Given the description of an element on the screen output the (x, y) to click on. 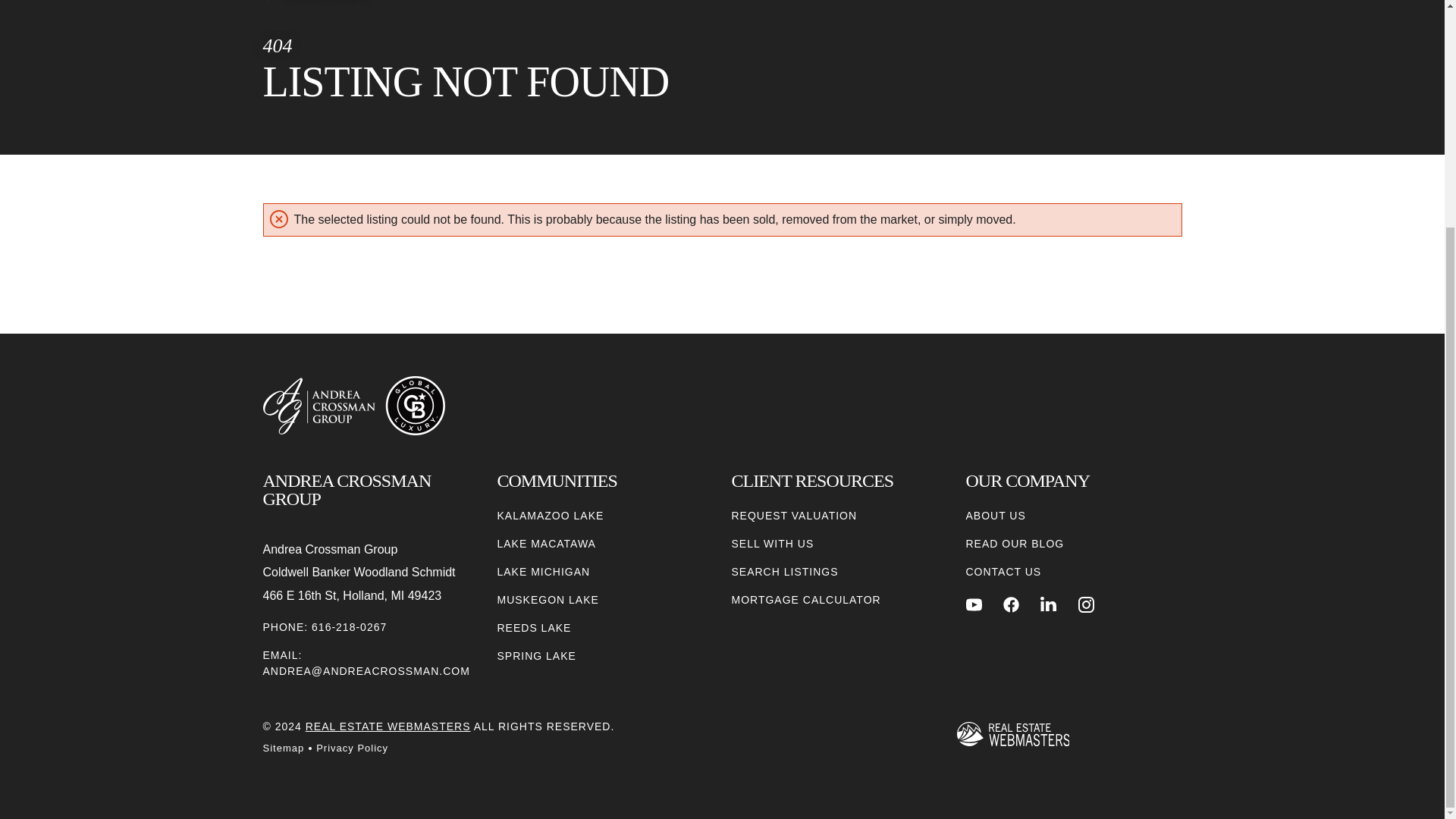
YOUTUBE (973, 604)
LINKEDIN (1049, 604)
FACEBOOK (1011, 604)
